Given the description of an element on the screen output the (x, y) to click on. 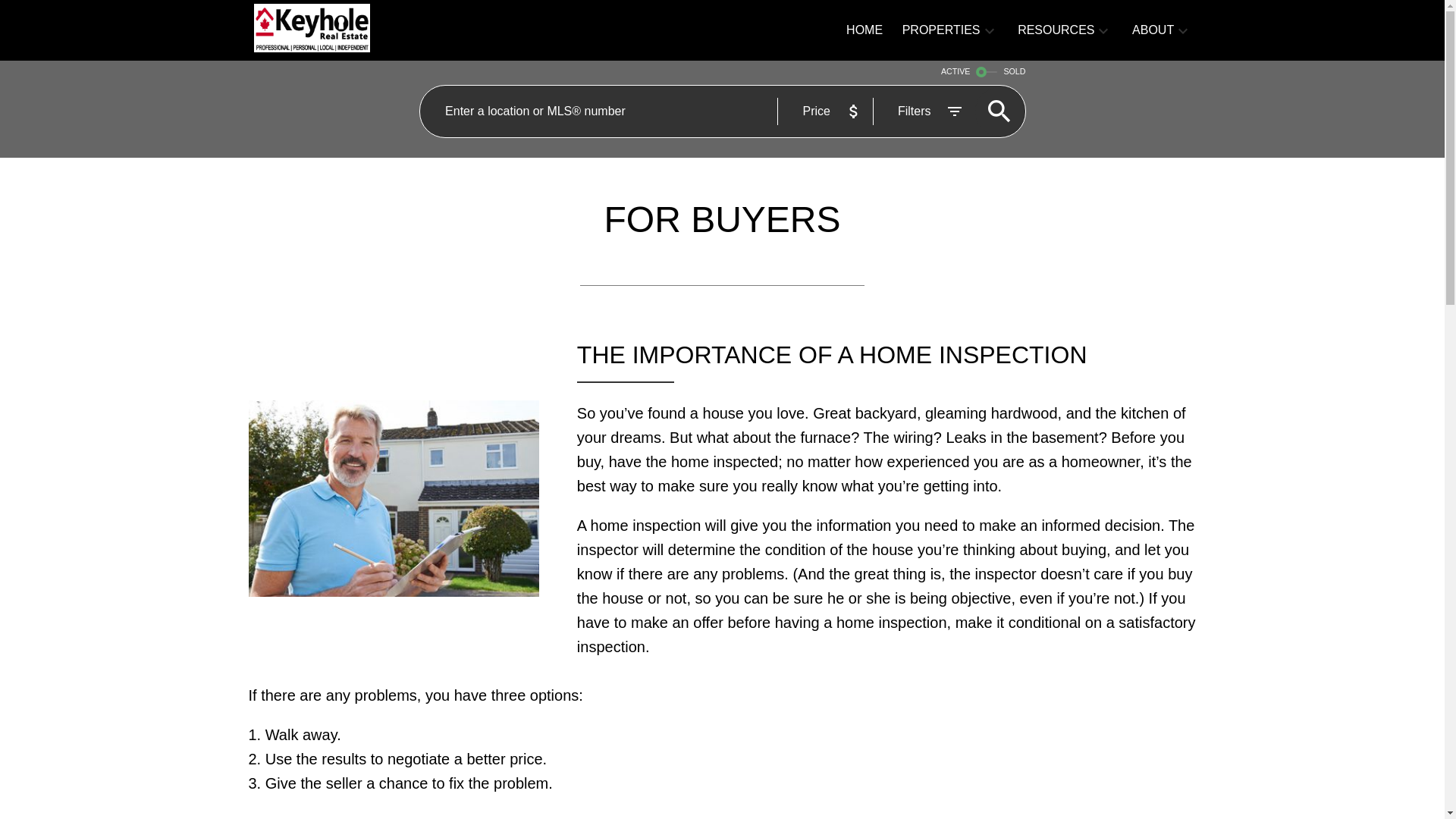
HOME (863, 30)
ABOUT (1152, 30)
PROPERTIES (940, 30)
